Given the description of an element on the screen output the (x, y) to click on. 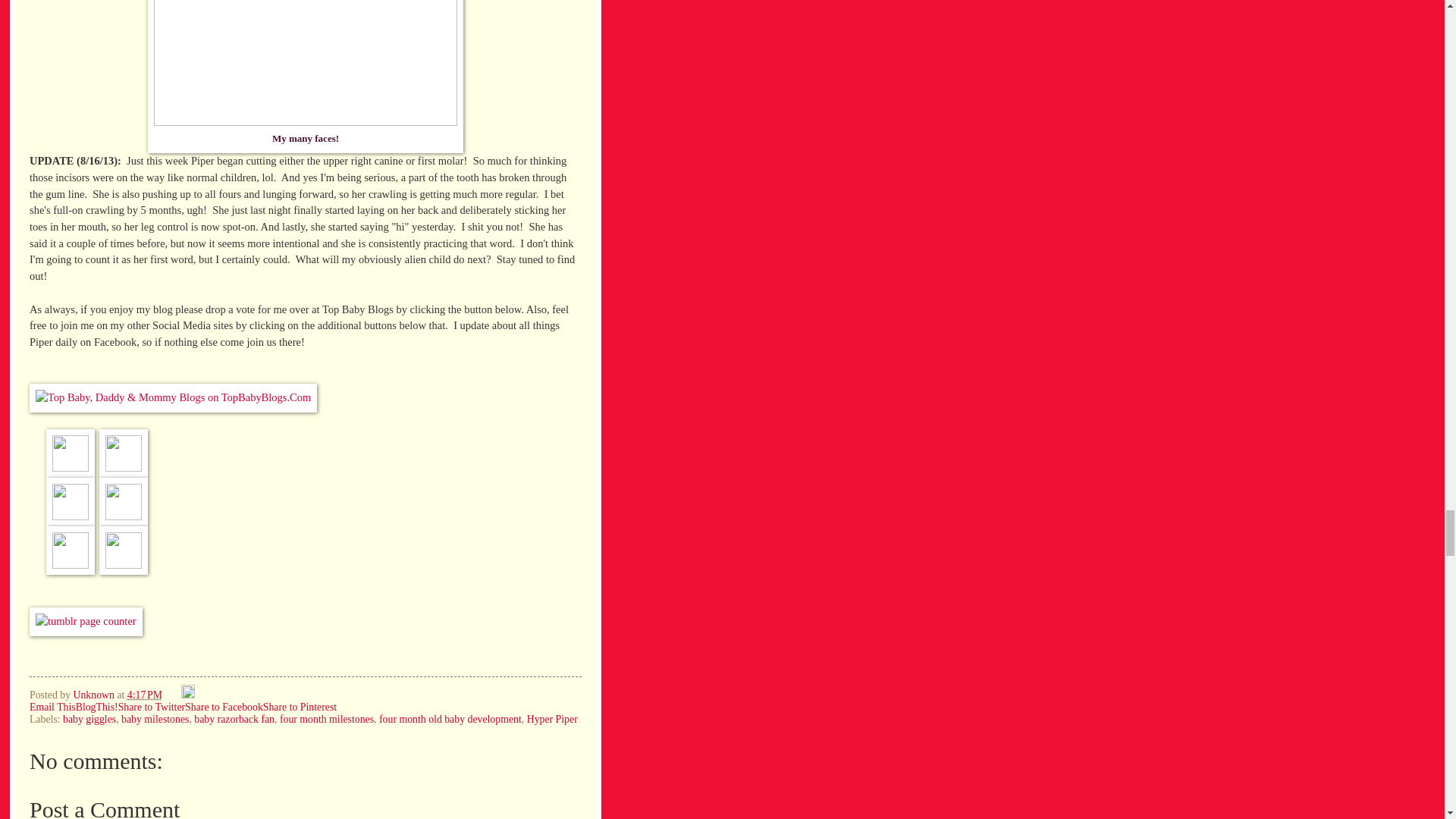
baby blogs (173, 397)
permanent link (144, 695)
Share to Facebook (223, 706)
Share to Twitter (150, 706)
author profile (94, 695)
Email Post (172, 695)
Edit Post (187, 695)
Share to Pinterest (299, 706)
BlogThis! (96, 706)
Email This (52, 706)
tumblr page counter (85, 621)
